Given the description of an element on the screen output the (x, y) to click on. 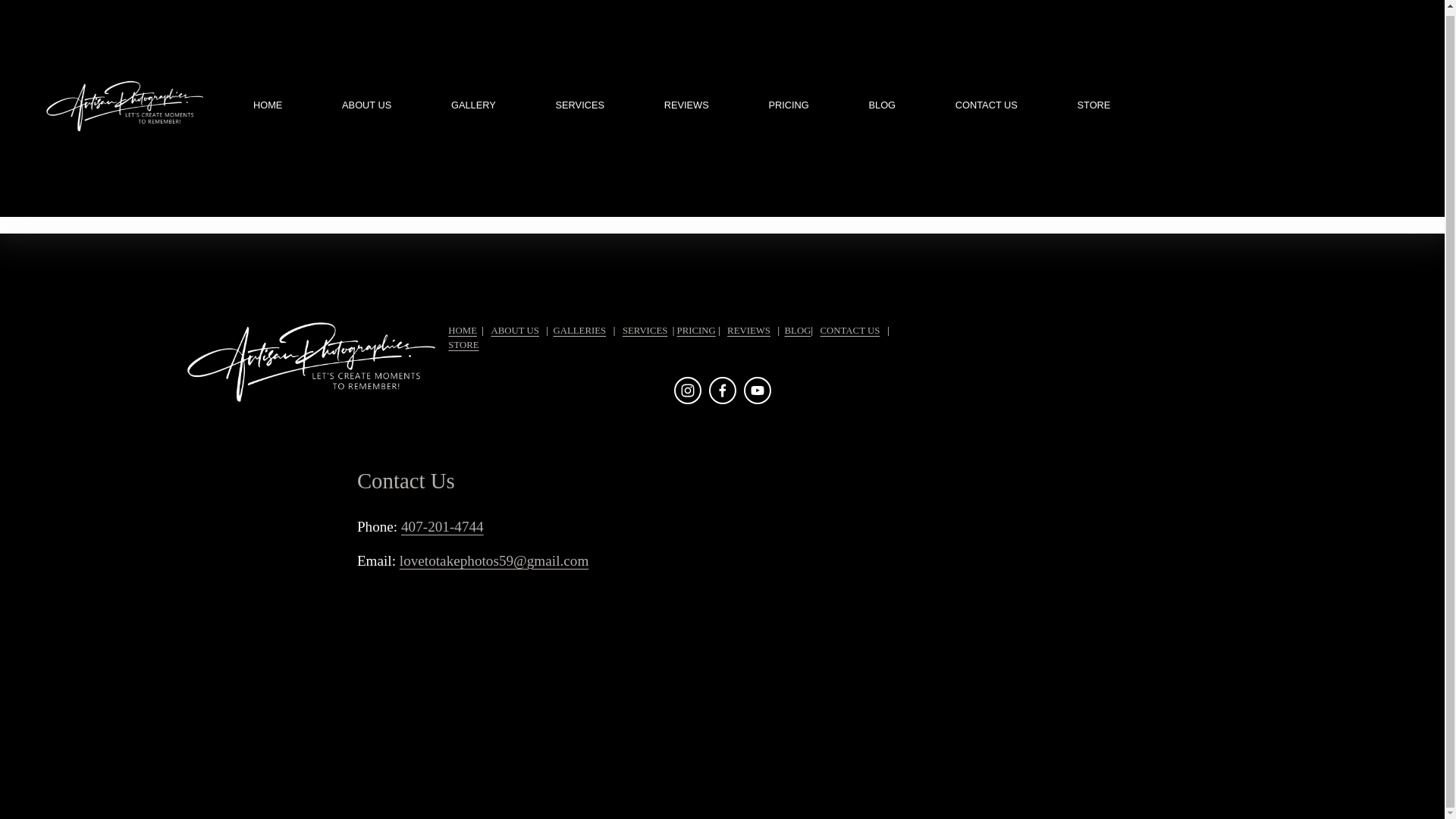
CONTACT US (986, 105)
GALLERY (473, 105)
ABOUT US (366, 105)
SERVICES (580, 105)
STORE (1093, 105)
PRICING (788, 105)
REVIEWS (686, 105)
HOME (267, 105)
BLOG (882, 105)
